Given the description of an element on the screen output the (x, y) to click on. 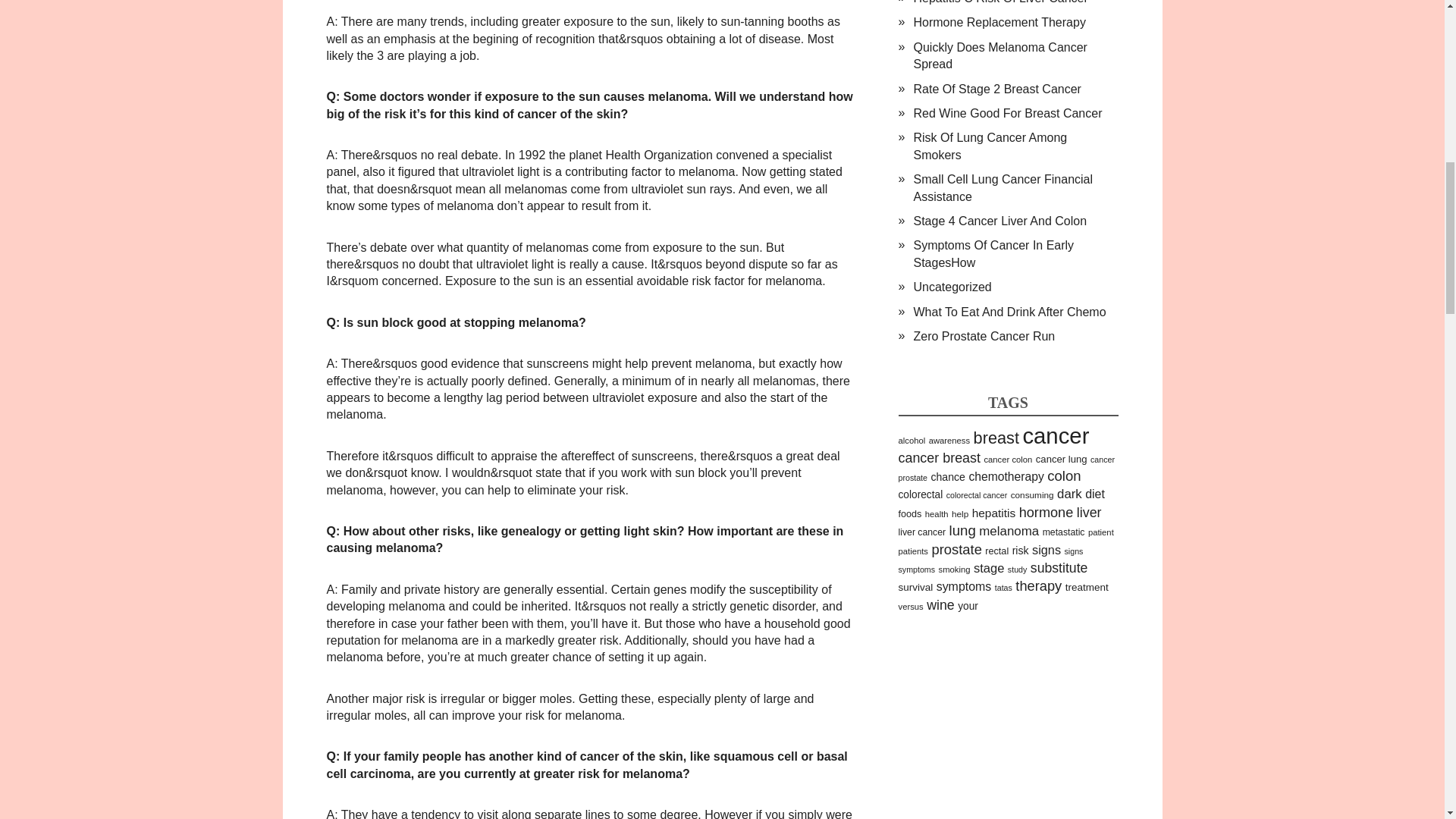
Rate Of Stage 2 Breast Cancer (996, 88)
Hepatitis C Risk Of Liver Cancer (999, 2)
Quickly Does Melanoma Cancer Spread (999, 55)
Hormone Replacement Therapy (998, 21)
